Given the description of an element on the screen output the (x, y) to click on. 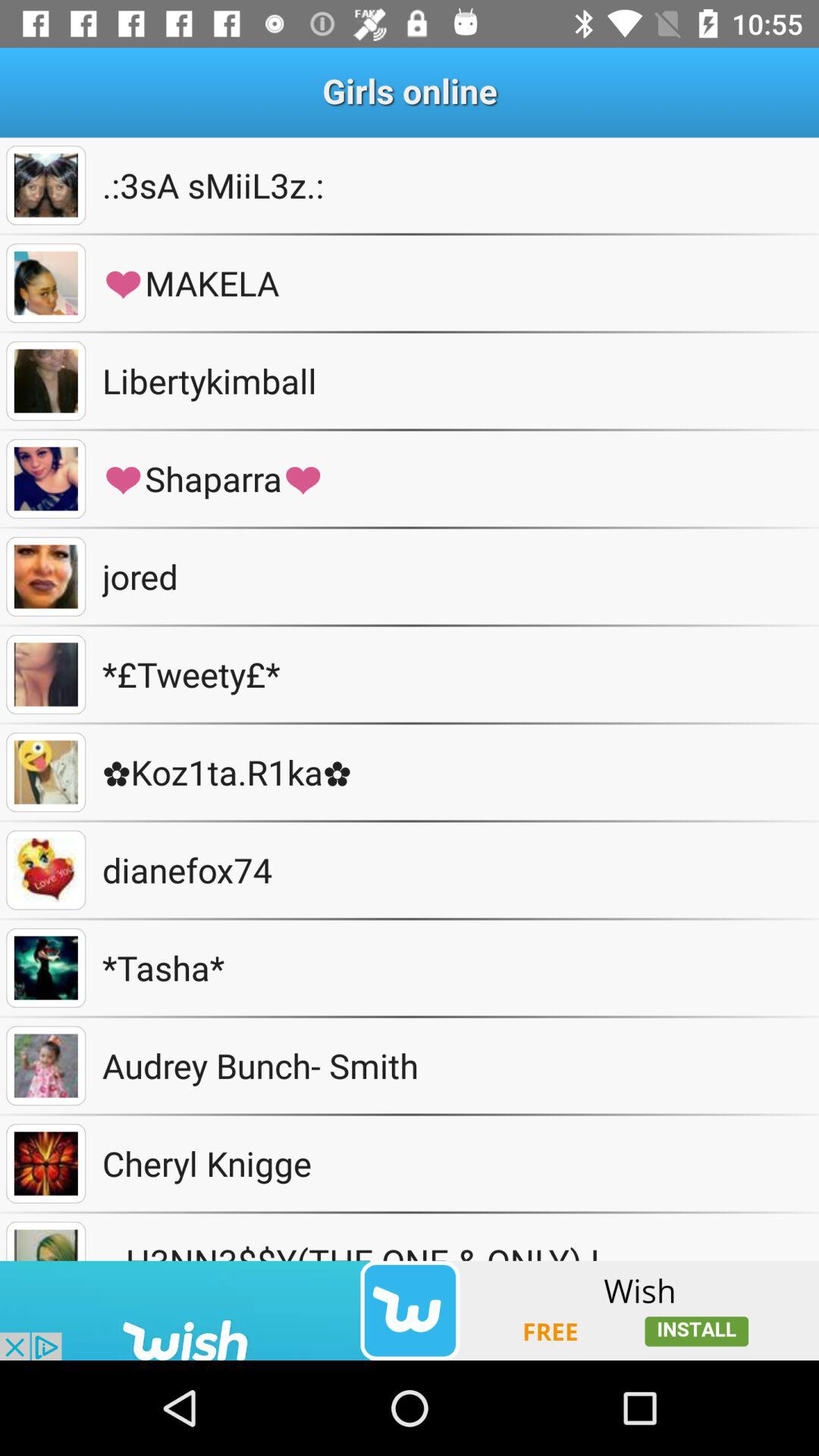
gallery tool box (45, 1163)
